Given the description of an element on the screen output the (x, y) to click on. 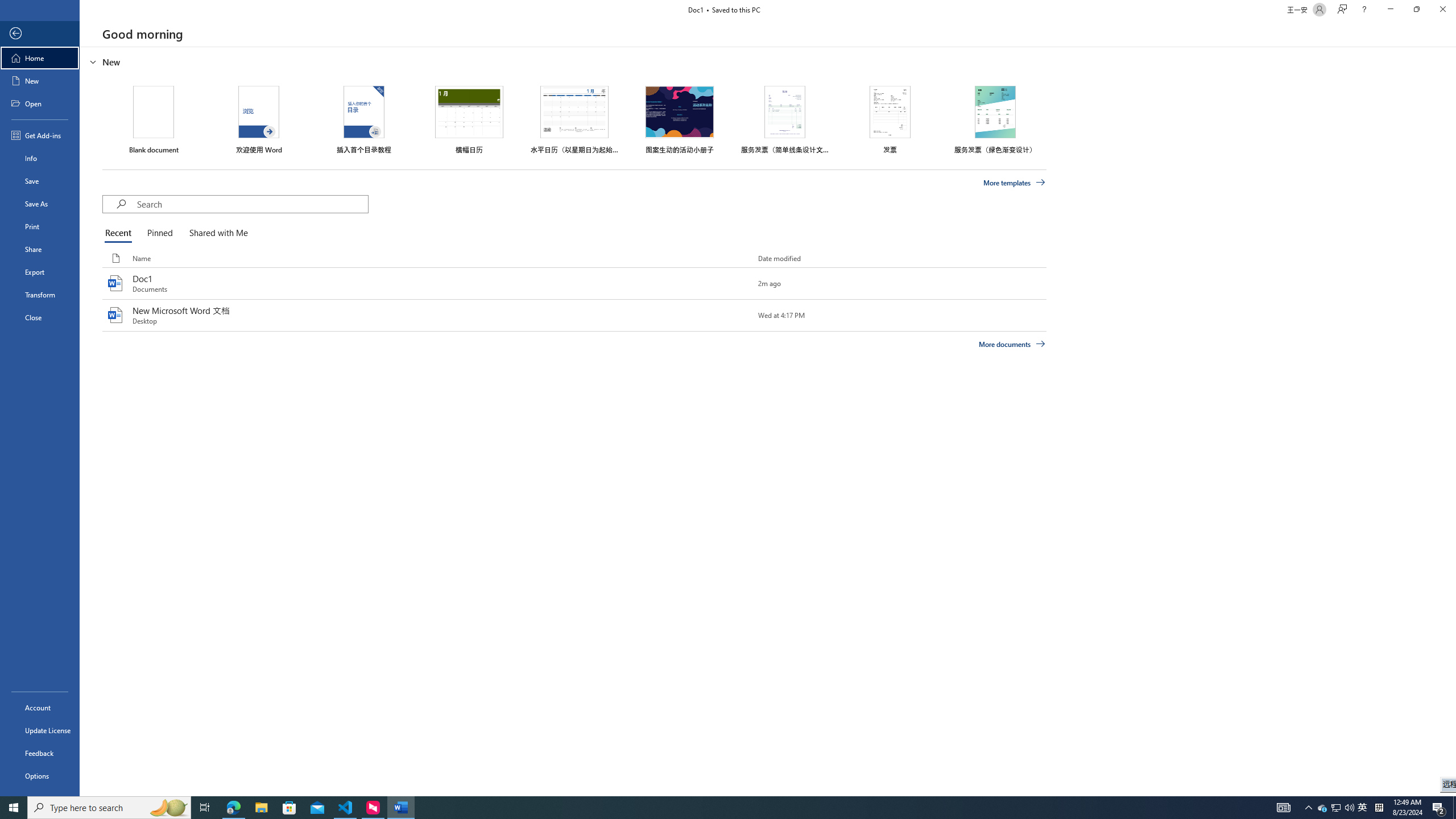
More templates (1014, 182)
